Given the description of an element on the screen output the (x, y) to click on. 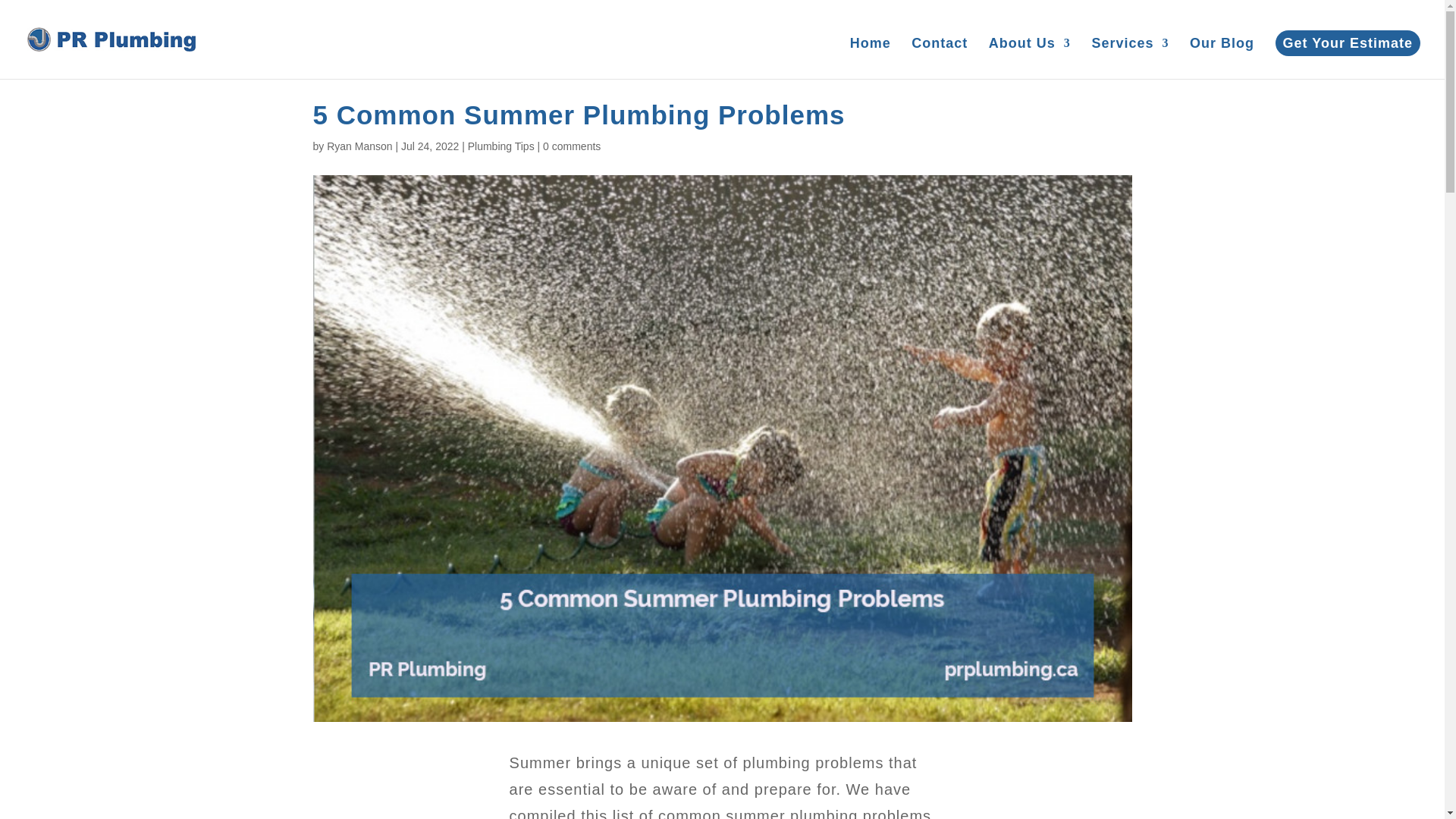
Contact (939, 57)
0 comments (571, 146)
Our Blog (1221, 57)
Get Your Estimate (1348, 43)
Posts by Ryan Manson (358, 146)
Services (1129, 57)
About Us (1029, 57)
Home (870, 57)
Plumbing Tips (500, 146)
Ryan Manson (358, 146)
